Given the description of an element on the screen output the (x, y) to click on. 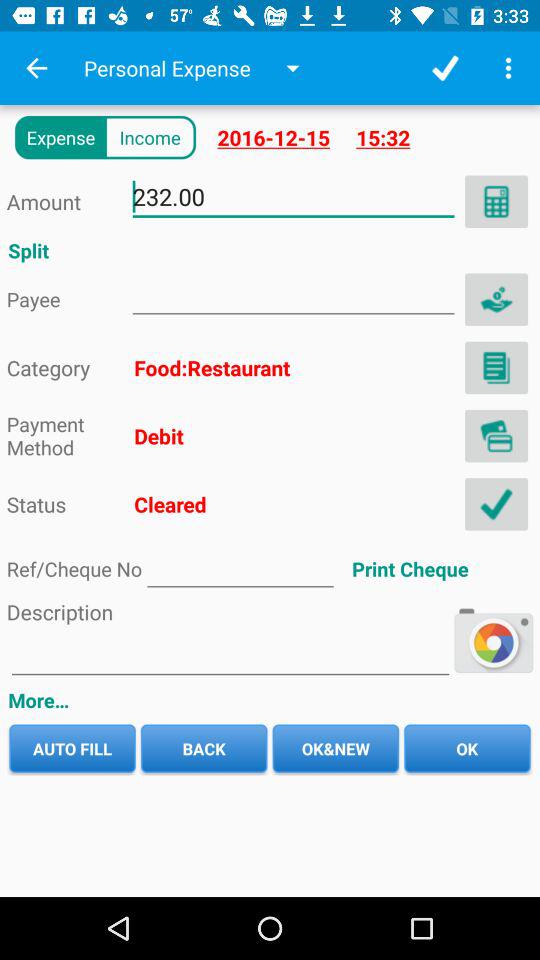
select category (496, 367)
